Given the description of an element on the screen output the (x, y) to click on. 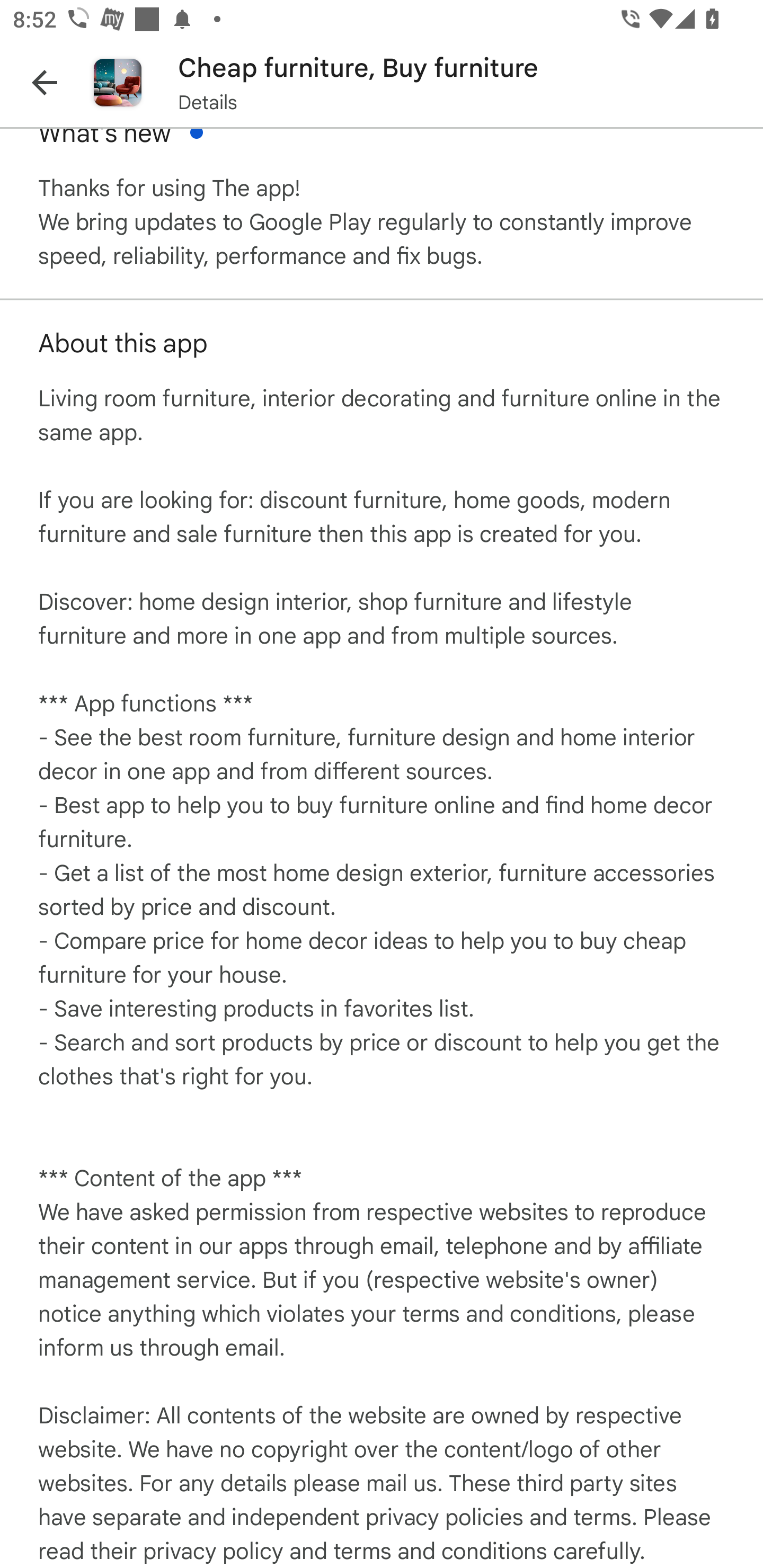
Navigate up (44, 82)
